Given the description of an element on the screen output the (x, y) to click on. 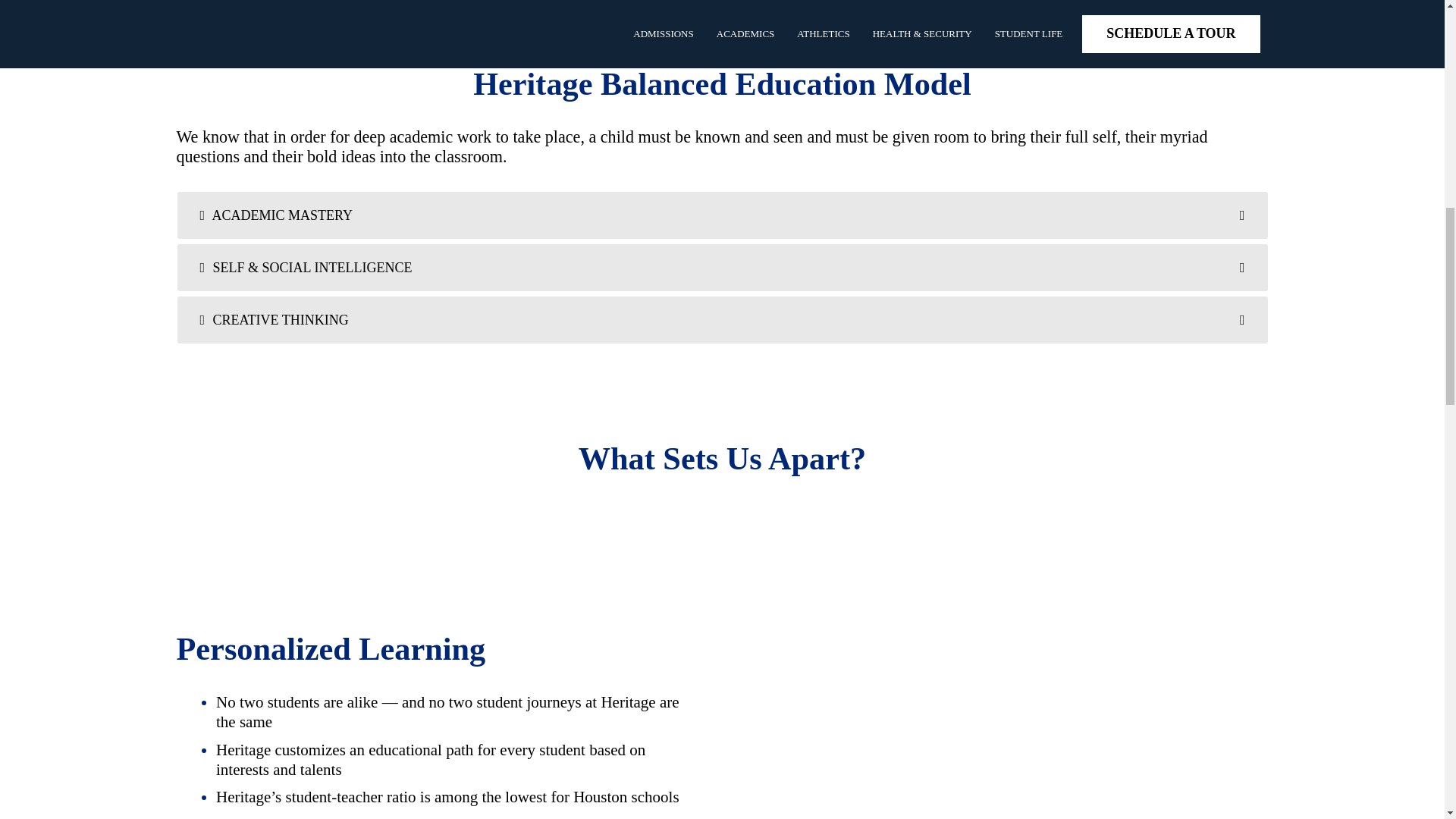
Back to top (1413, 48)
